Given the description of an element on the screen output the (x, y) to click on. 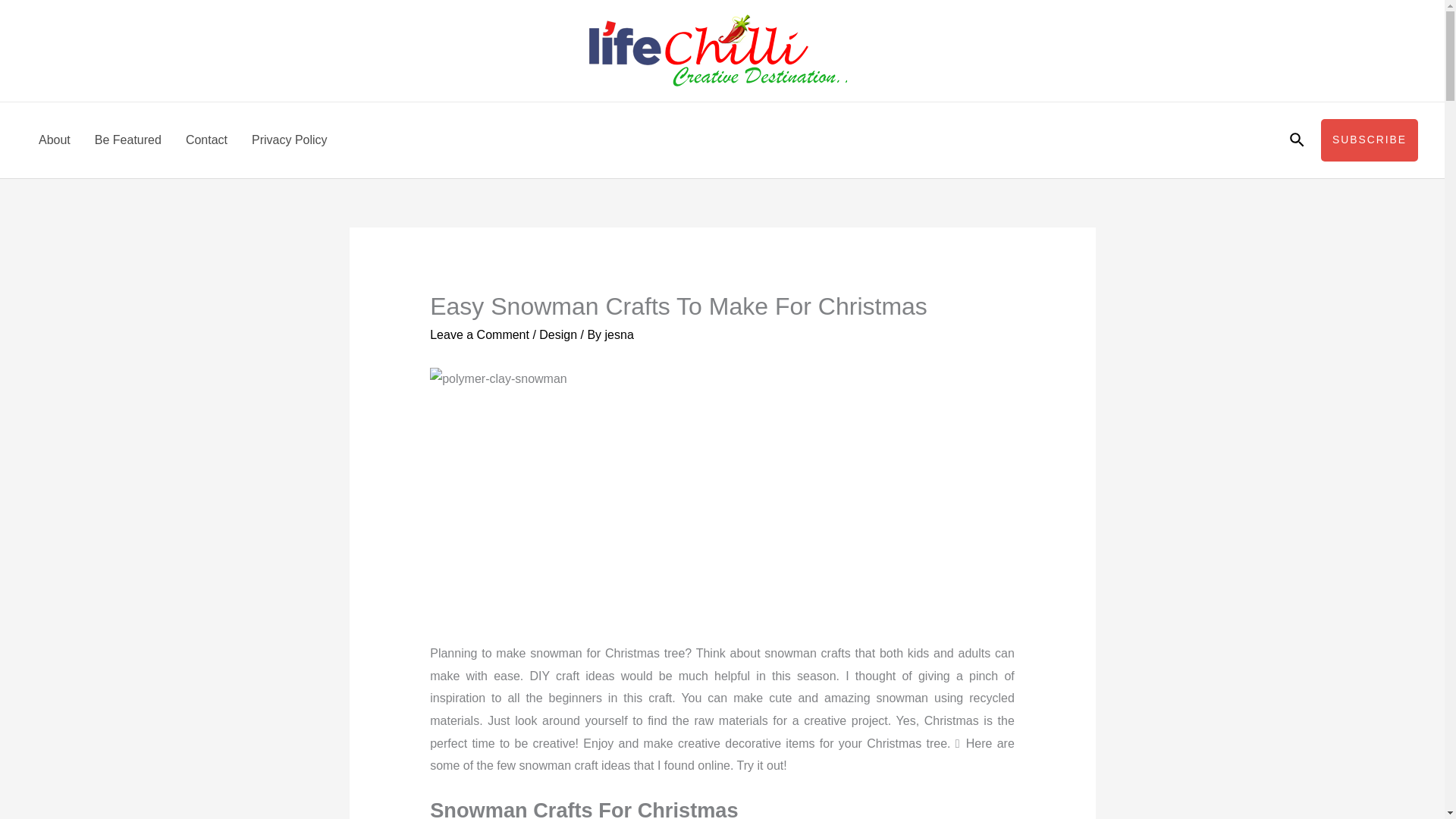
jesna (619, 334)
Privacy Policy (289, 140)
Leave a Comment (479, 334)
Be Featured (127, 140)
Design (557, 334)
View all posts by jesna (619, 334)
SUBSCRIBE (1369, 139)
